Given the description of an element on the screen output the (x, y) to click on. 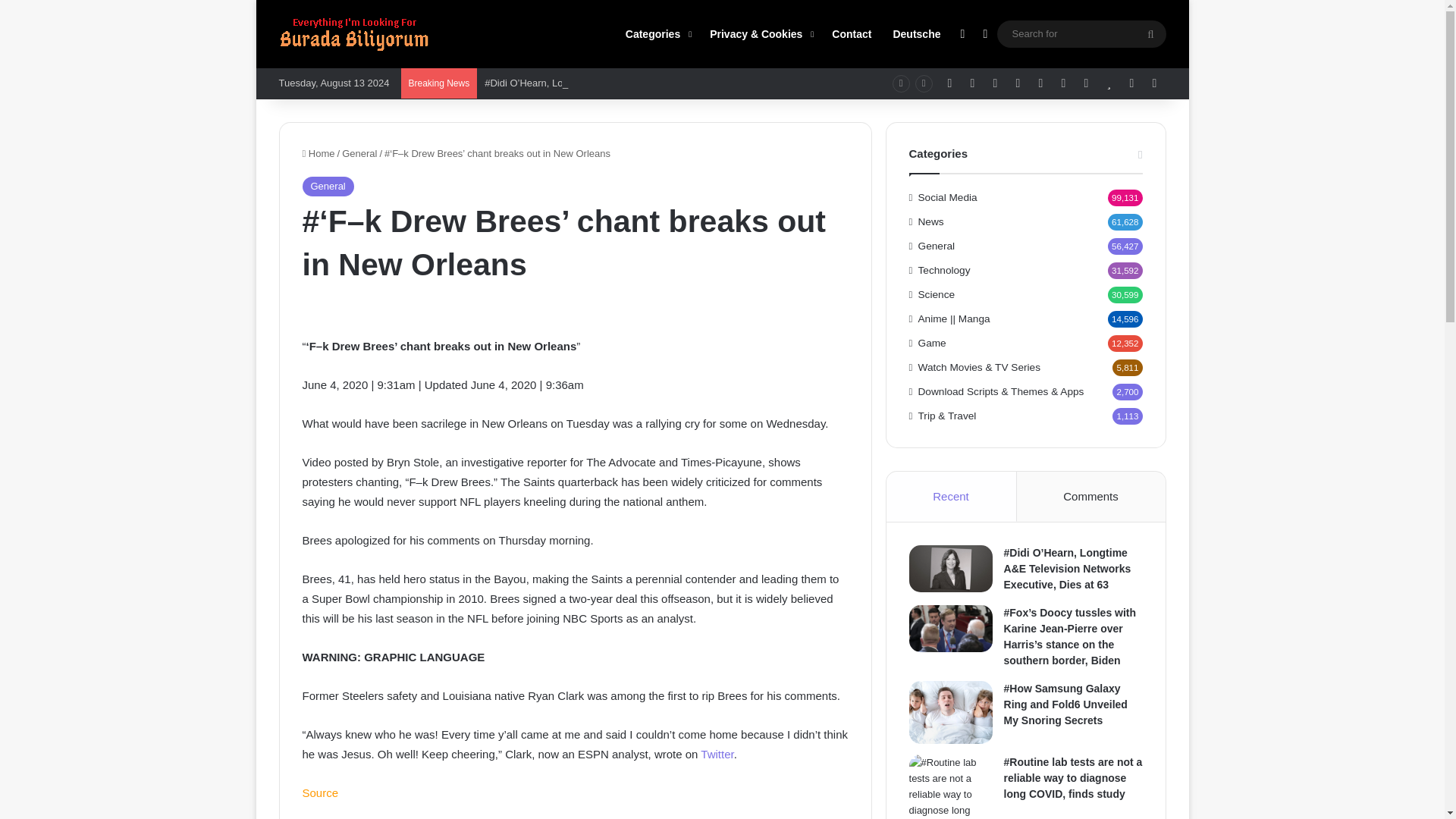
Contact (851, 33)
Twitter (716, 753)
General (327, 186)
Deutsche (916, 33)
Social Media (716, 753)
Source (319, 792)
Home (317, 153)
Search for (1150, 33)
Categories (656, 33)
En.BuradaBiliyorum.Com (354, 34)
